Given the description of an element on the screen output the (x, y) to click on. 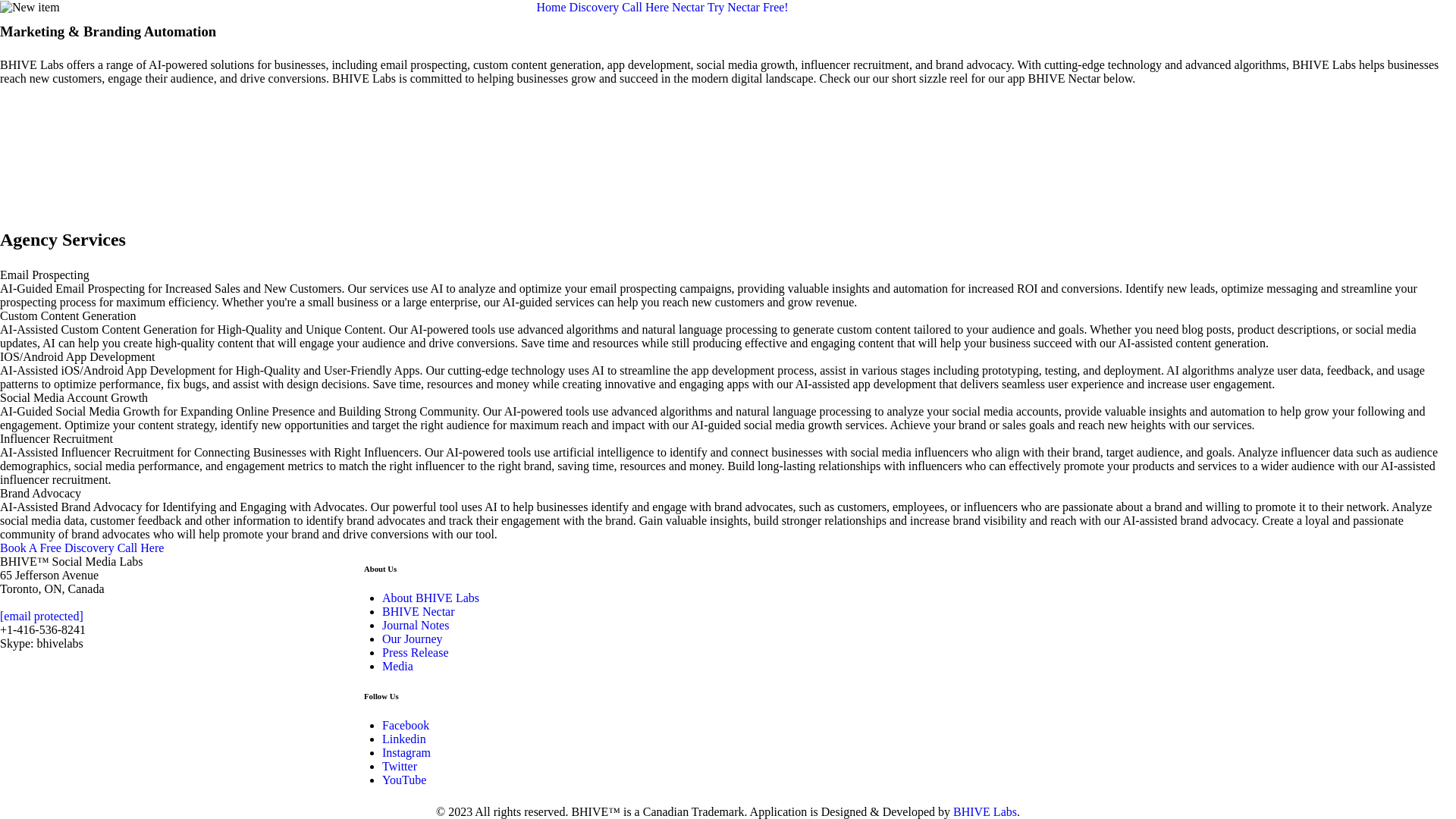
Twitter Element type: text (399, 765)
Journal Notes Element type: text (415, 624)
Facebook Element type: text (405, 724)
Book A Free Discovery Call Here Element type: text (81, 547)
Try Nectar Free! Element type: text (747, 7)
BHIVE Nectar Element type: text (418, 611)
Nectar Element type: text (687, 7)
About BHIVE Labs Element type: text (430, 597)
Press Release Element type: text (415, 652)
Discovery Call Here Element type: text (619, 7)
Instagram Element type: text (406, 752)
BHIVE Labs Element type: text (984, 811)
Media Element type: text (397, 665)
[email protected] Element type: text (41, 615)
YouTube Element type: text (404, 779)
Home Element type: text (550, 7)
Linkedin Element type: text (404, 738)
Our Journey Element type: text (412, 638)
